Given the description of an element on the screen output the (x, y) to click on. 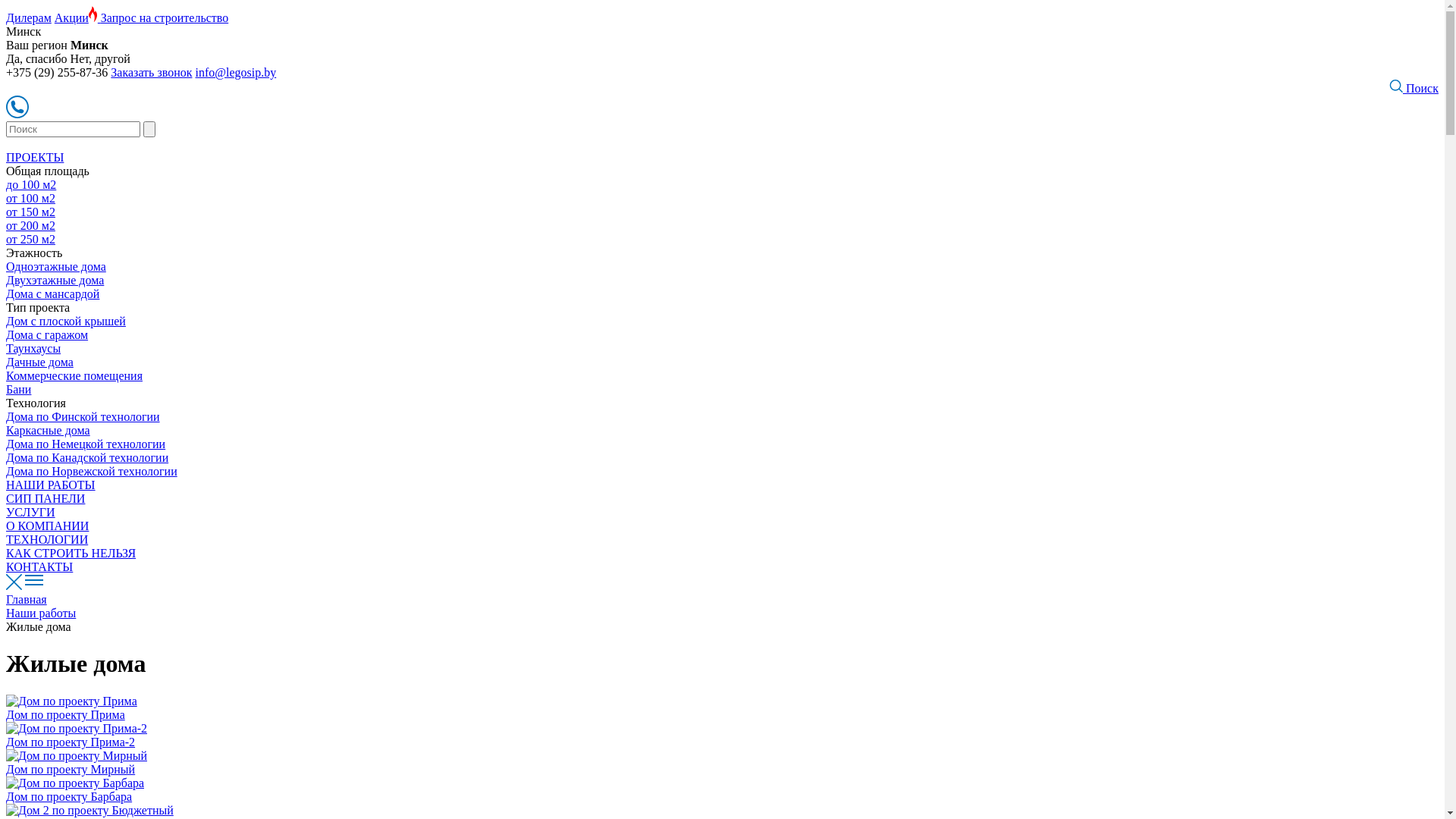
info@legosip.by Element type: text (235, 71)
+375 (29) 255-87-36 Element type: text (56, 71)
